Given the description of an element on the screen output the (x, y) to click on. 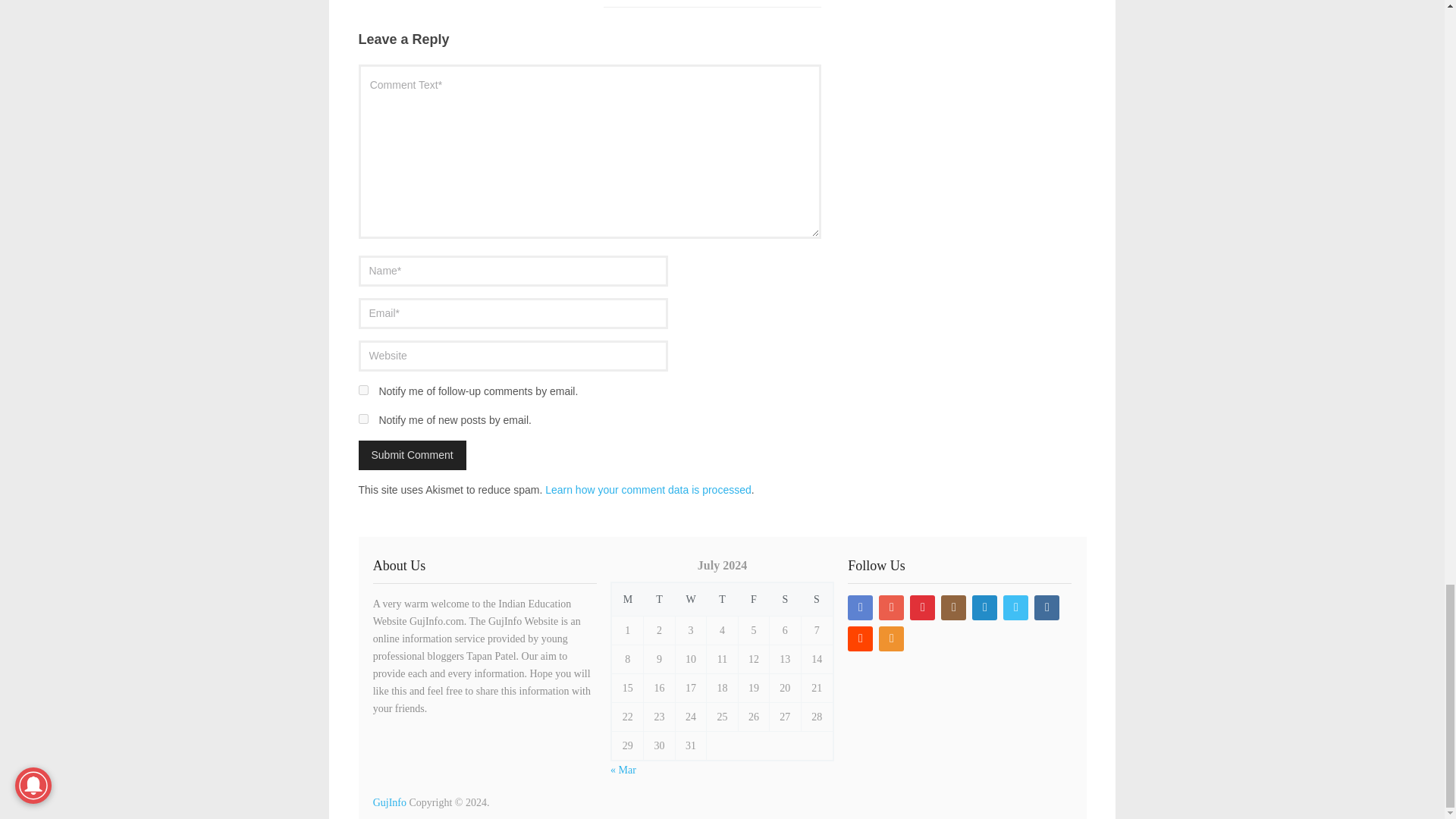
subscribe (363, 389)
subscribe (363, 419)
Submit Comment (411, 455)
